Given the description of an element on the screen output the (x, y) to click on. 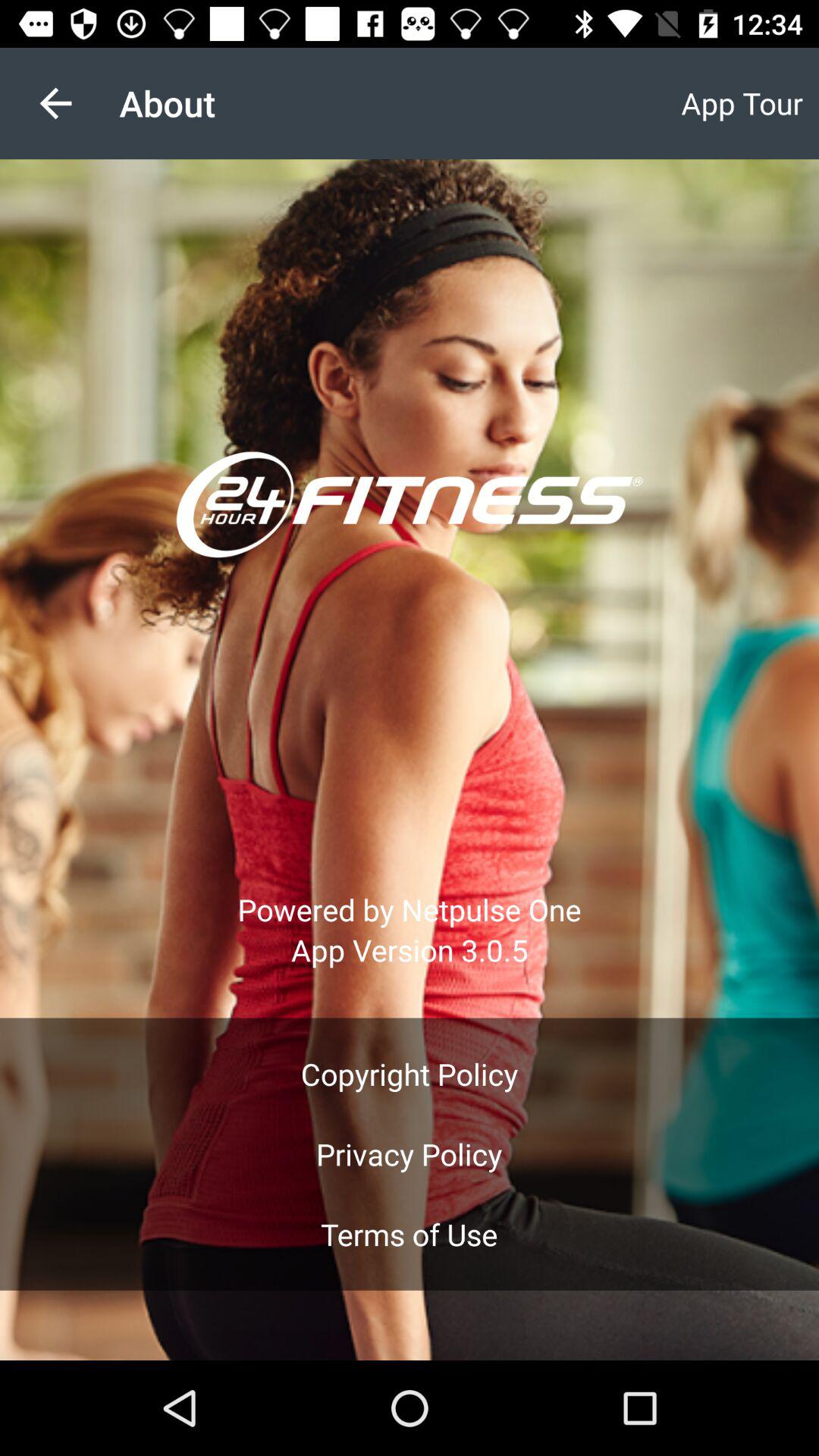
tap item to the left of the about app (55, 103)
